Given the description of an element on the screen output the (x, y) to click on. 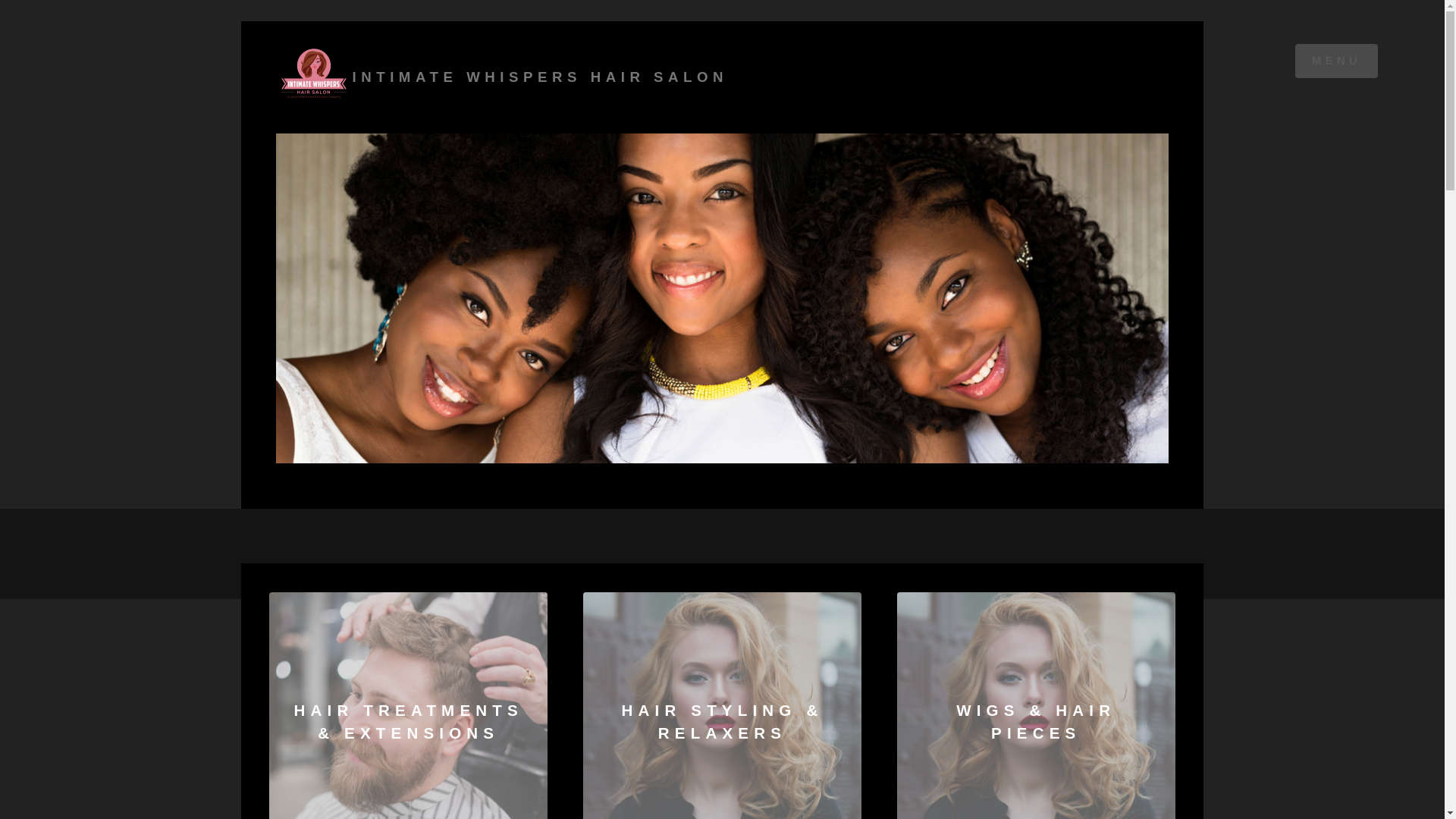
MENU (1336, 60)
Shop Now (408, 705)
Shop Now (722, 705)
Shop Now (1035, 705)
